Given the description of an element on the screen output the (x, y) to click on. 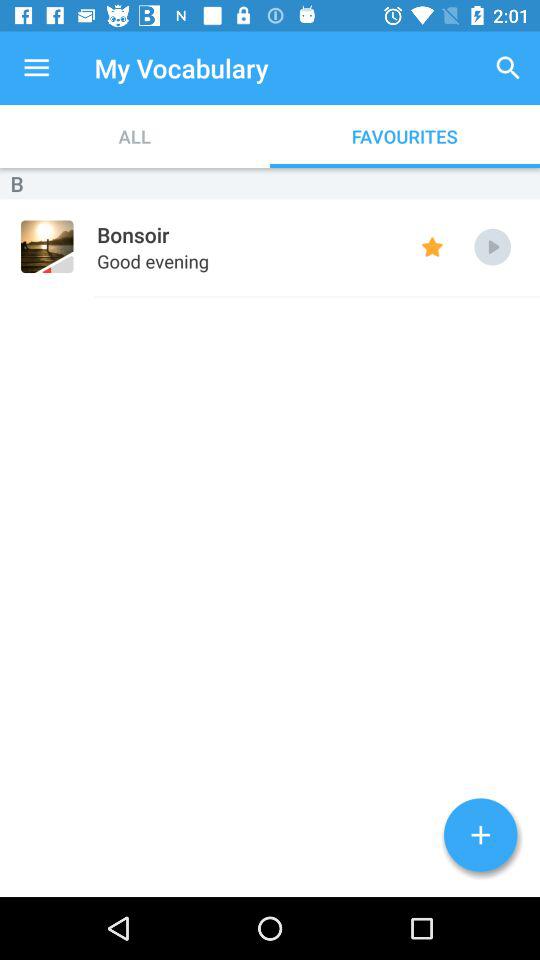
play option (492, 246)
